Given the description of an element on the screen output the (x, y) to click on. 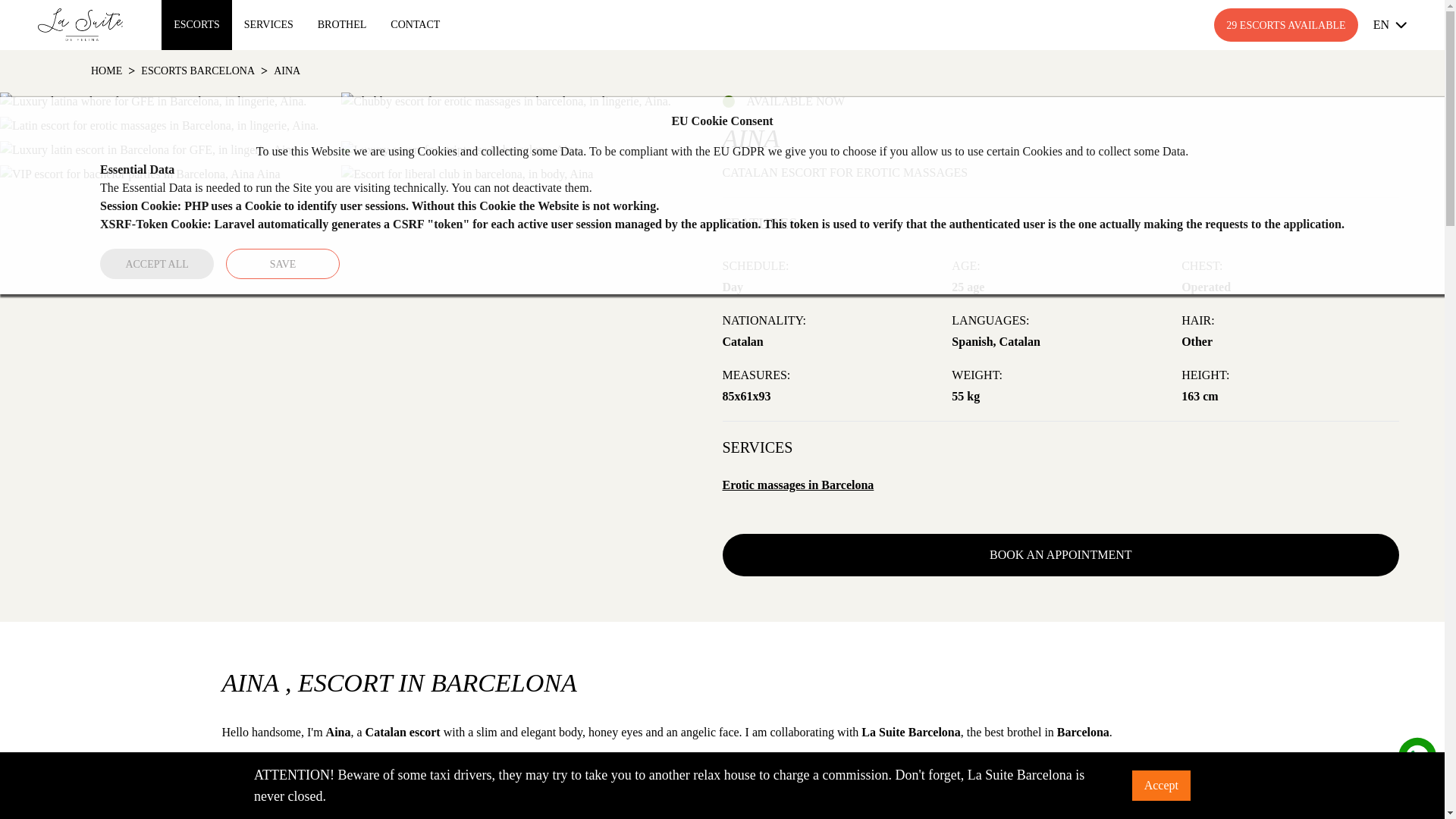
ESCORTS (196, 24)
CONTACT (414, 24)
HOME (106, 70)
s (1417, 756)
Accept (1161, 785)
29 ESCORTS AVAILABLE (1285, 24)
BROTHEL (341, 24)
ESCORTS BARCELONA (197, 70)
SERVICES (268, 24)
